Given the description of an element on the screen output the (x, y) to click on. 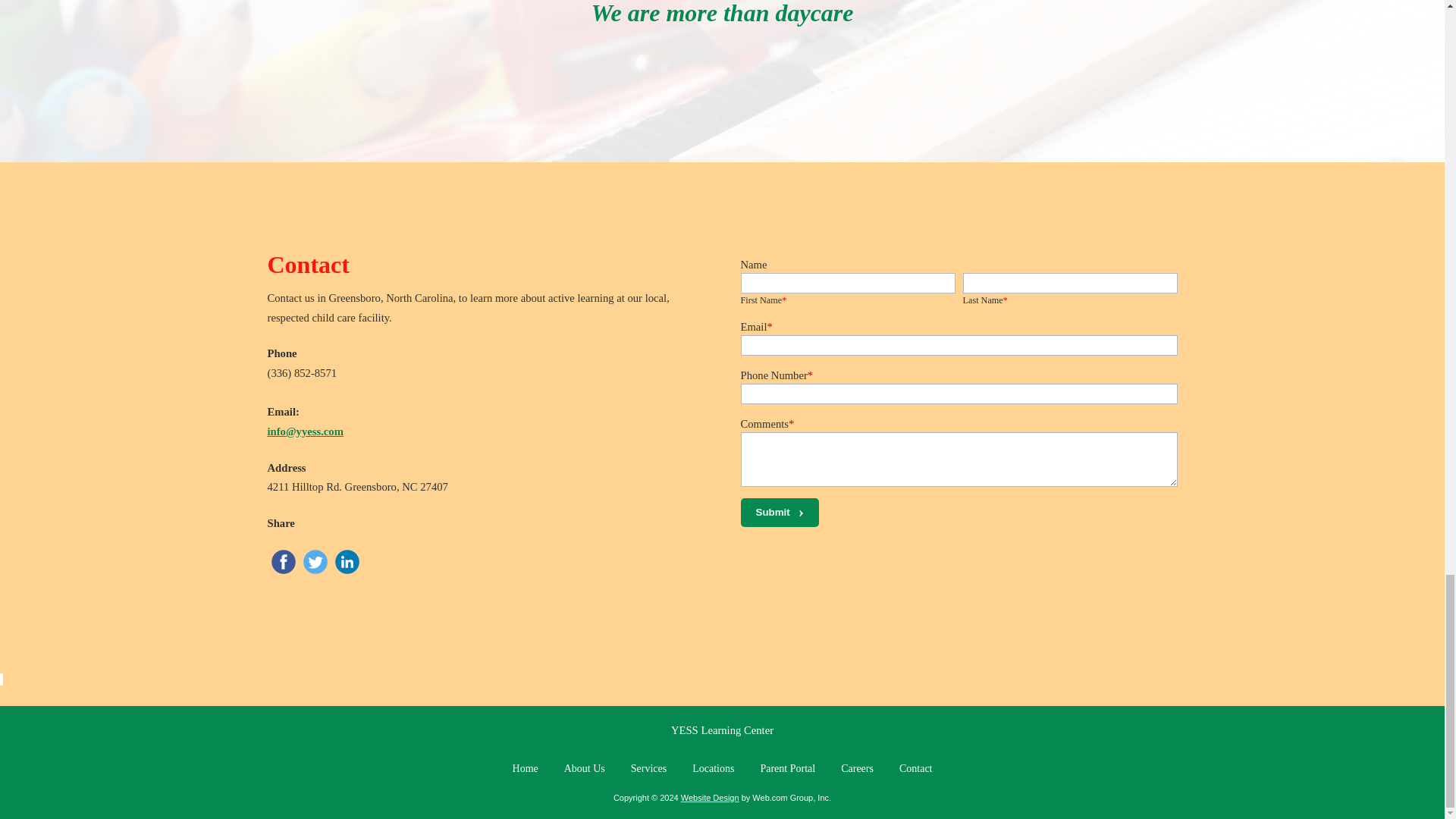
Locations (713, 768)
About Us (584, 768)
Careers (857, 768)
Website Design (710, 797)
Home (525, 768)
Submit (778, 511)
Submit (778, 511)
Services (648, 768)
Contact (916, 768)
Parent Portal (787, 768)
